Given the description of an element on the screen output the (x, y) to click on. 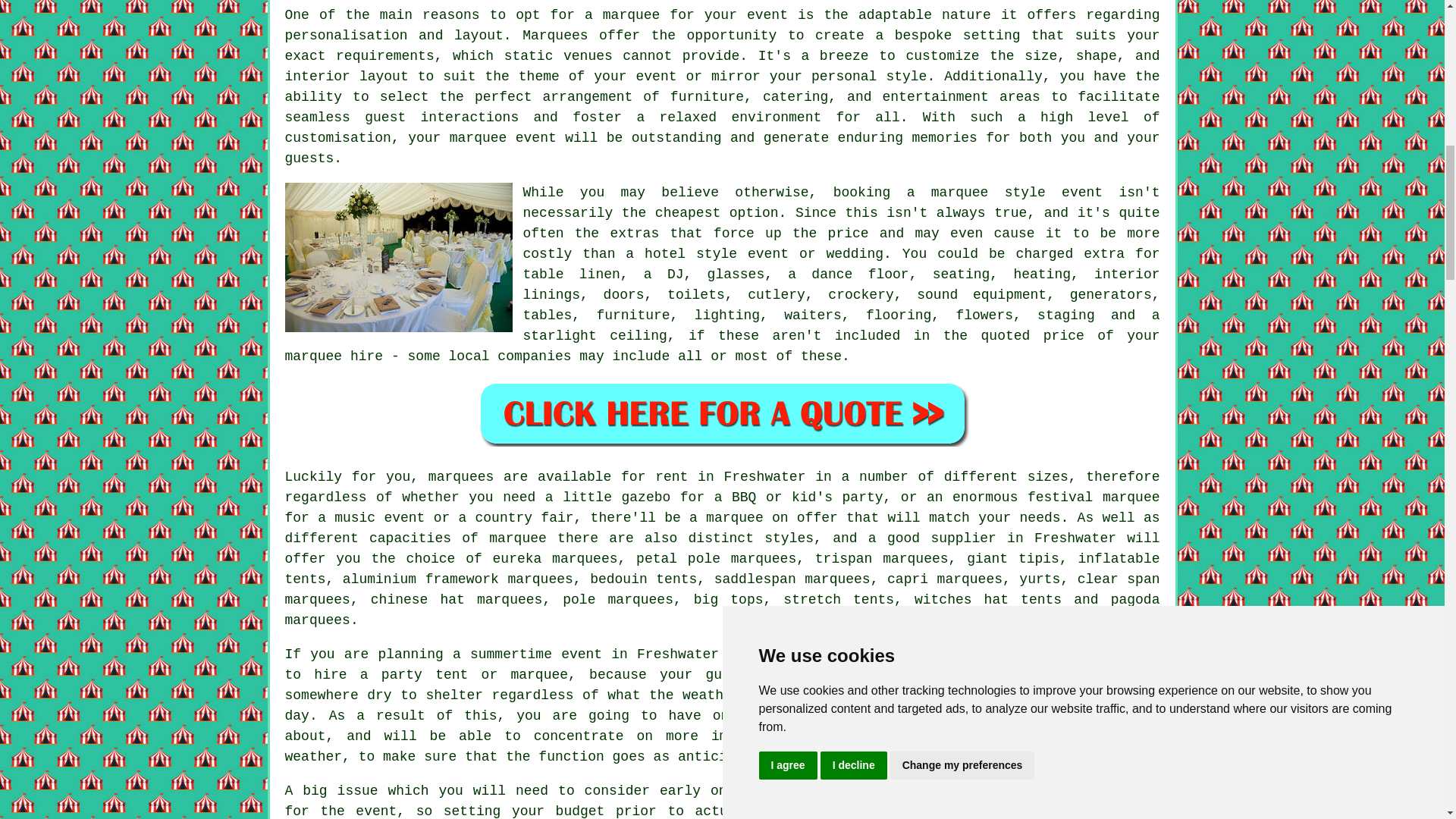
pagoda marquees (722, 610)
Marquee Hire Quotes in Freshwater Isle of Wight (722, 413)
clear span marquees (722, 589)
big tops (728, 599)
capri marquees (944, 579)
hotel style (690, 253)
chinese hat (417, 599)
marquee (920, 811)
